Given the description of an element on the screen output the (x, y) to click on. 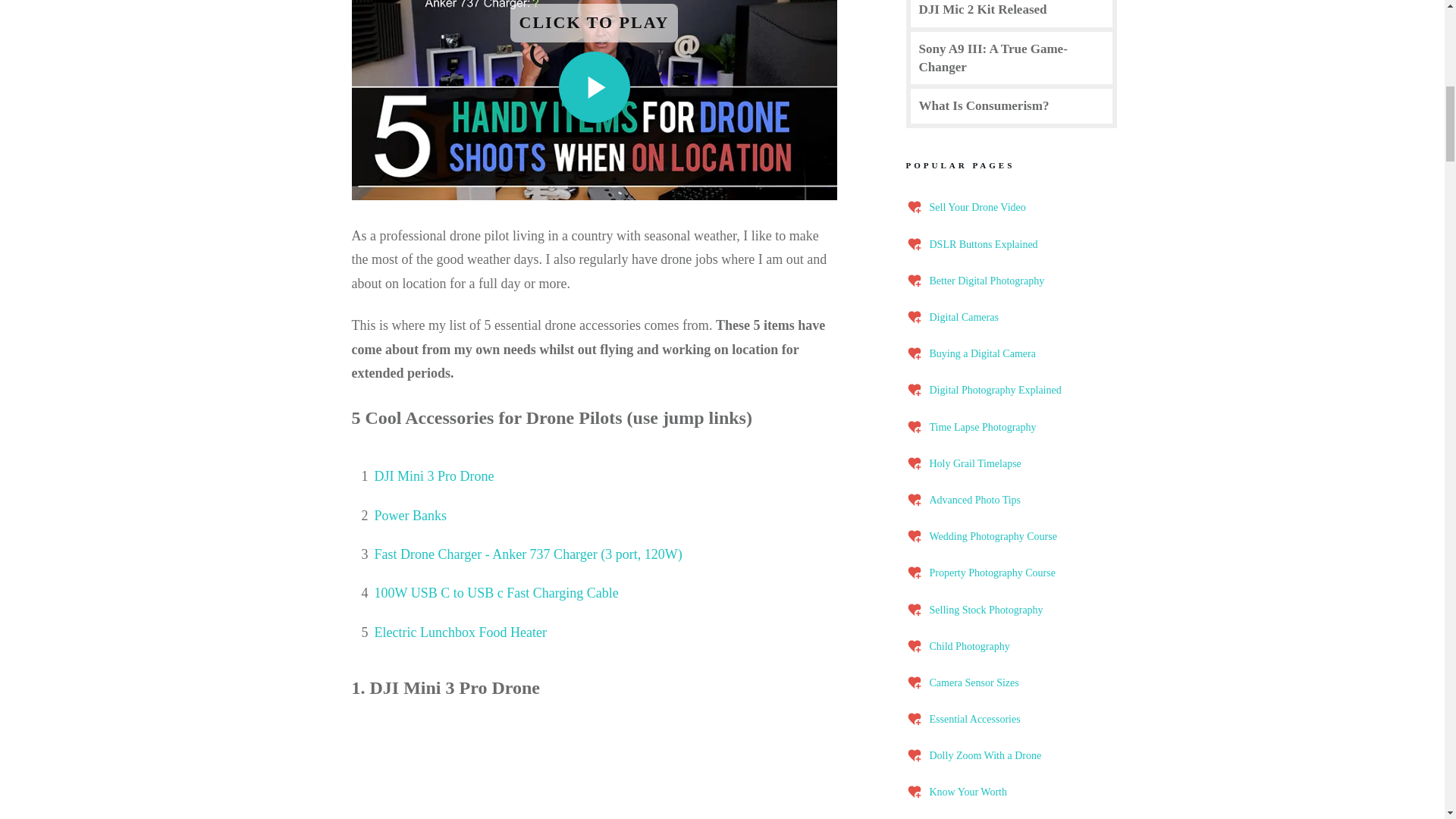
DJI Mini 3 Pro Drone (434, 476)
Power Banks (410, 515)
100W USB C to USB c Fast Charging Cable (496, 592)
Electric Lunchbox Food Heater (460, 631)
